Given the description of an element on the screen output the (x, y) to click on. 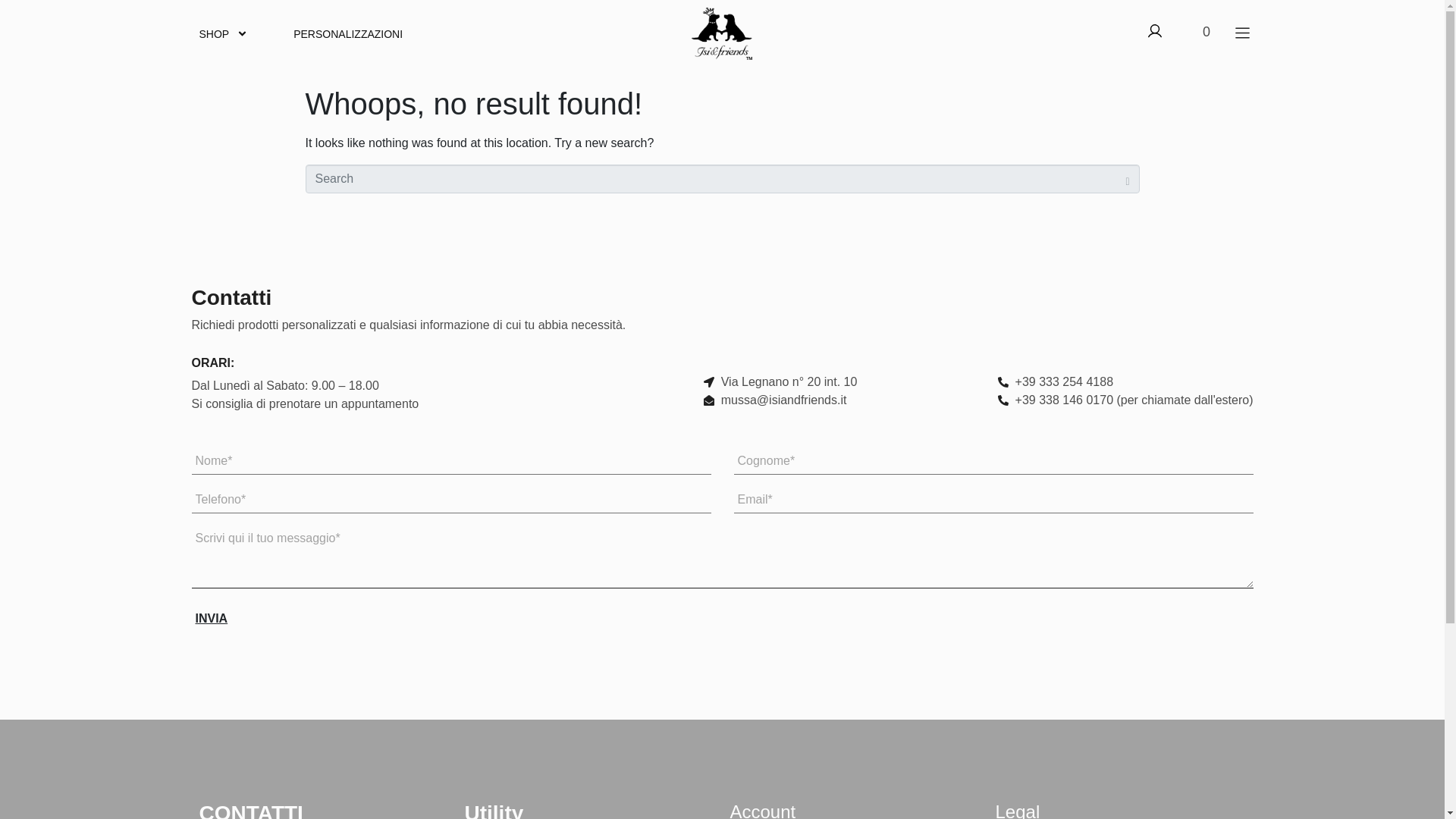
SHOP (223, 33)
Invia (210, 618)
0 (1197, 32)
PERSONALIZZAZIONI (347, 33)
